Given the description of an element on the screen output the (x, y) to click on. 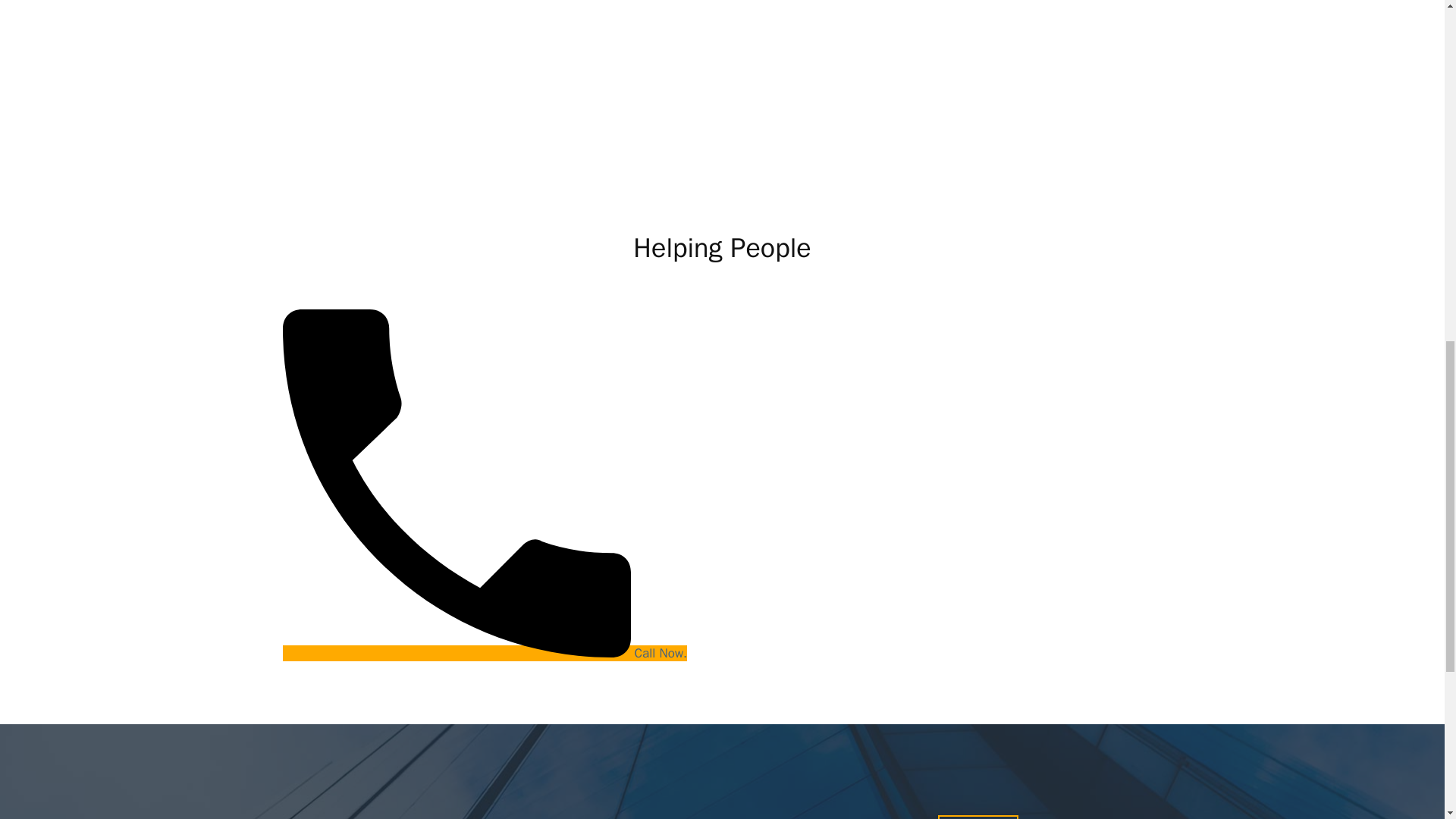
Call Now. (484, 652)
Get Help. (977, 816)
Scroll back to top (1406, 720)
